Given the description of an element on the screen output the (x, y) to click on. 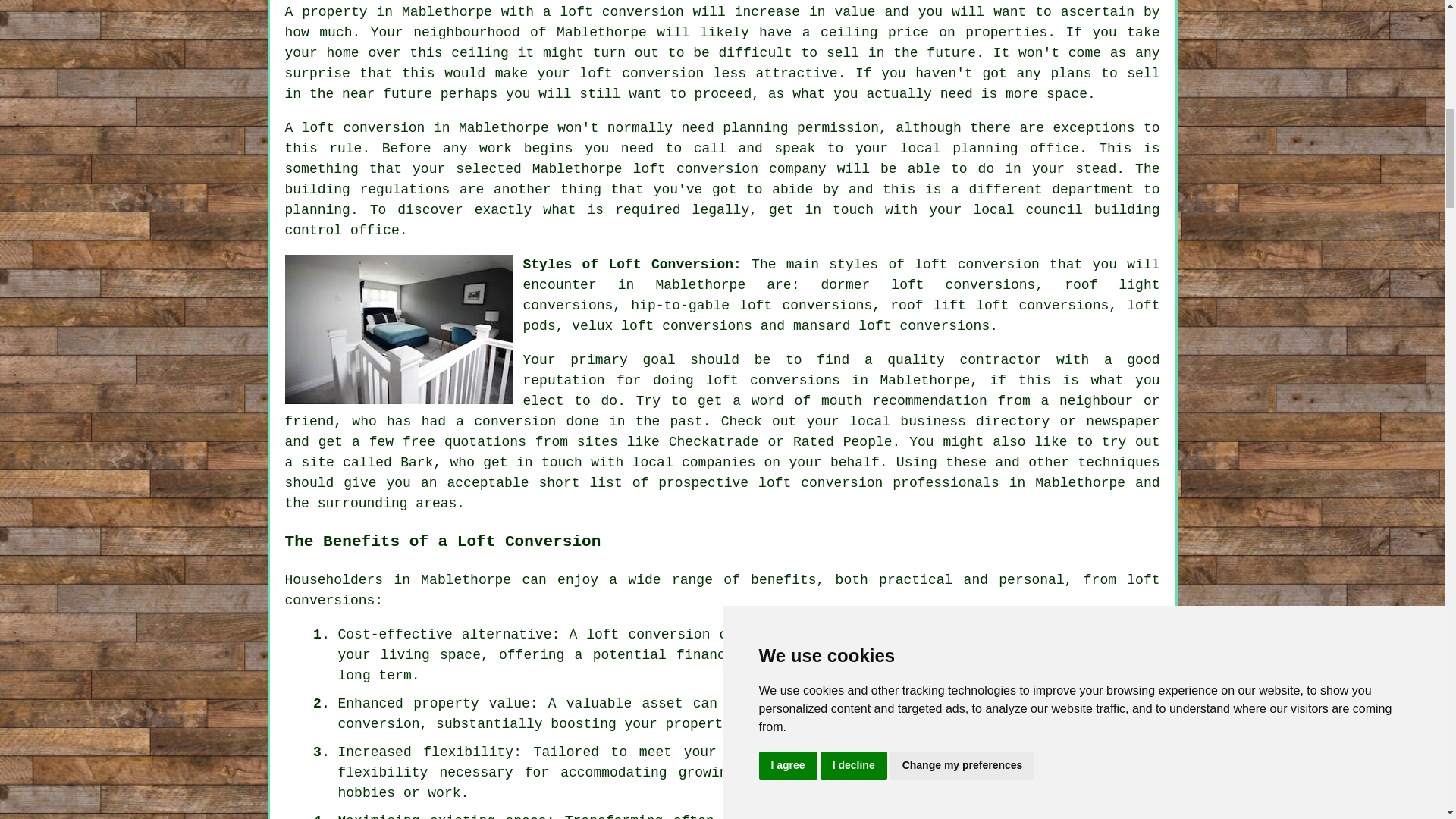
loft conversions (722, 590)
